Given the description of an element on the screen output the (x, y) to click on. 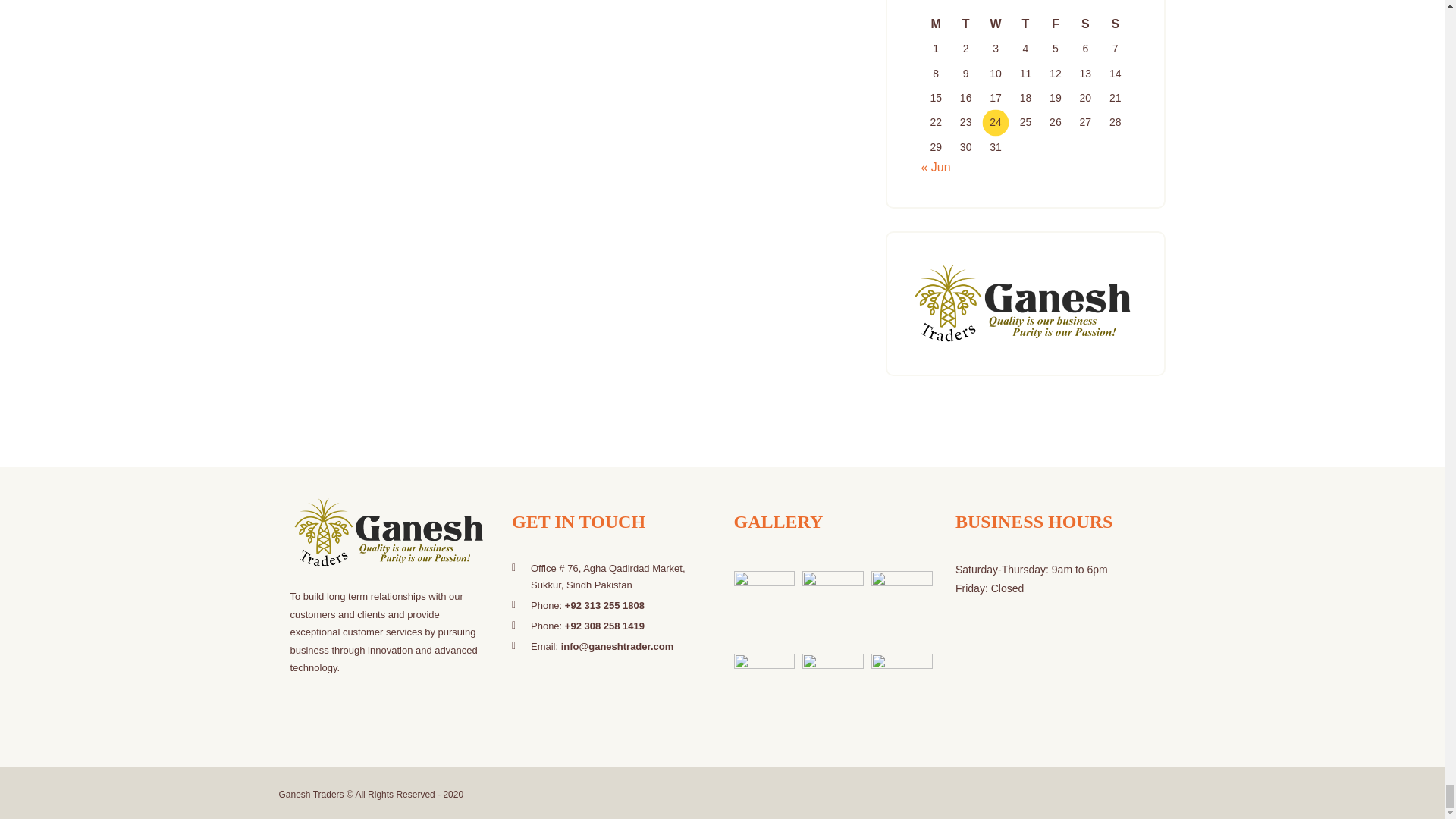
Sunday (1114, 24)
Monday (935, 24)
Tuesday (964, 24)
Wednesday (994, 24)
Thursday (1025, 24)
Saturday (1085, 24)
Friday (1055, 24)
